Given the description of an element on the screen output the (x, y) to click on. 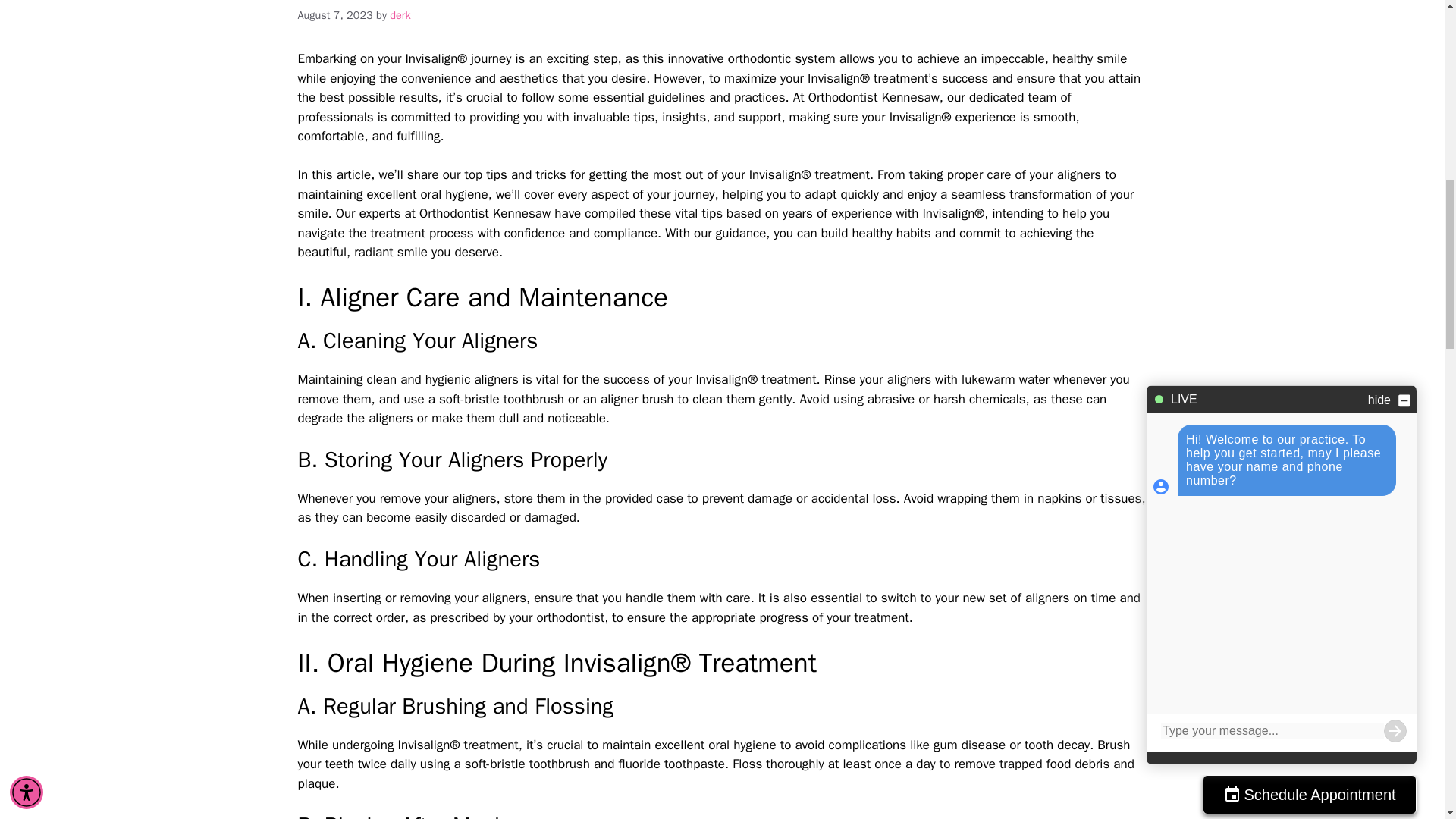
View all posts by derk (400, 15)
derk (400, 15)
